Given the description of an element on the screen output the (x, y) to click on. 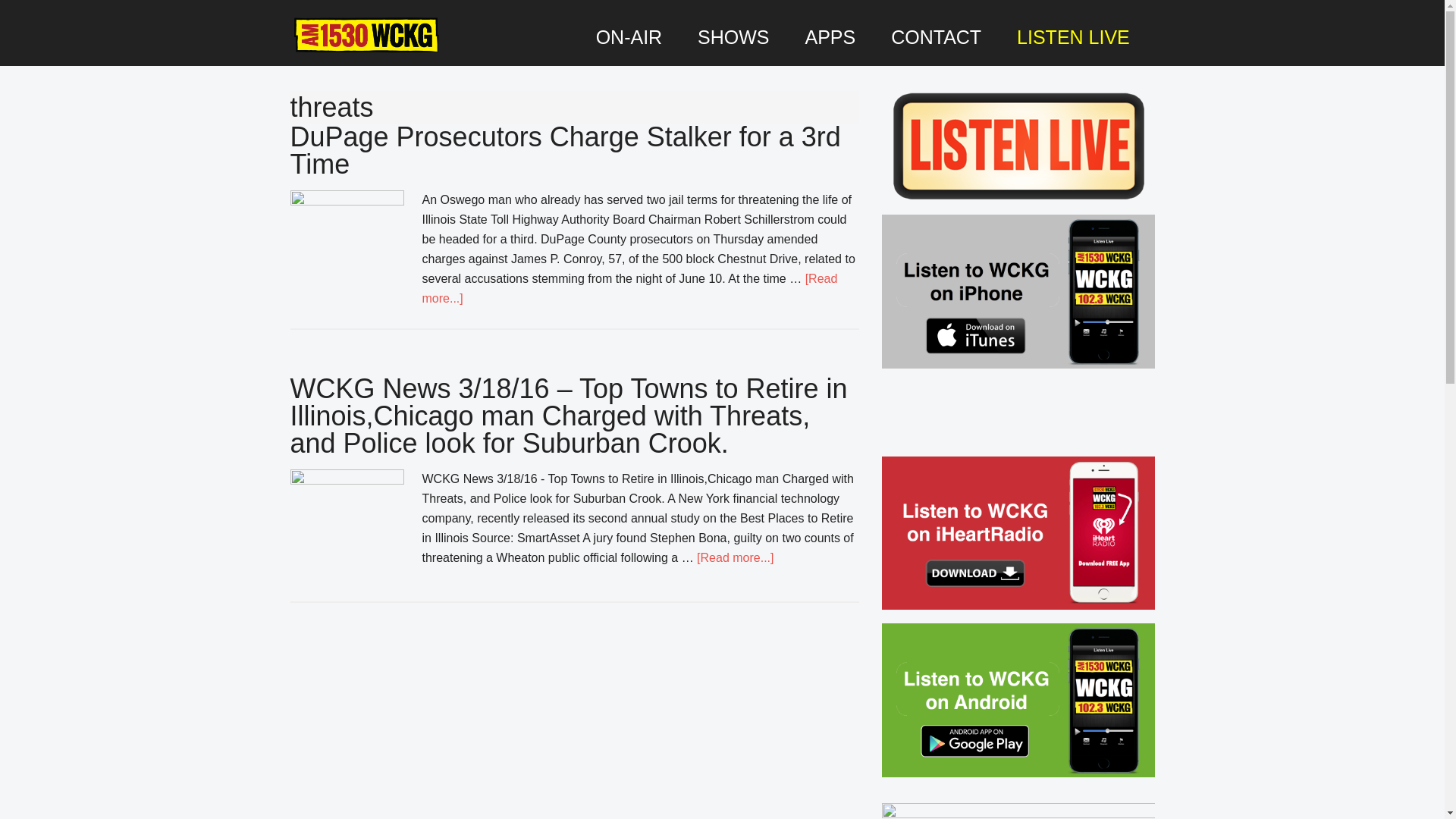
APPS (830, 37)
SHOWS (733, 37)
ON-AIR (629, 37)
LISTEN LIVE (1072, 37)
DuPage Prosecutors Charge Stalker for a 3rd Time (564, 150)
CONTACT (935, 37)
